Given the description of an element on the screen output the (x, y) to click on. 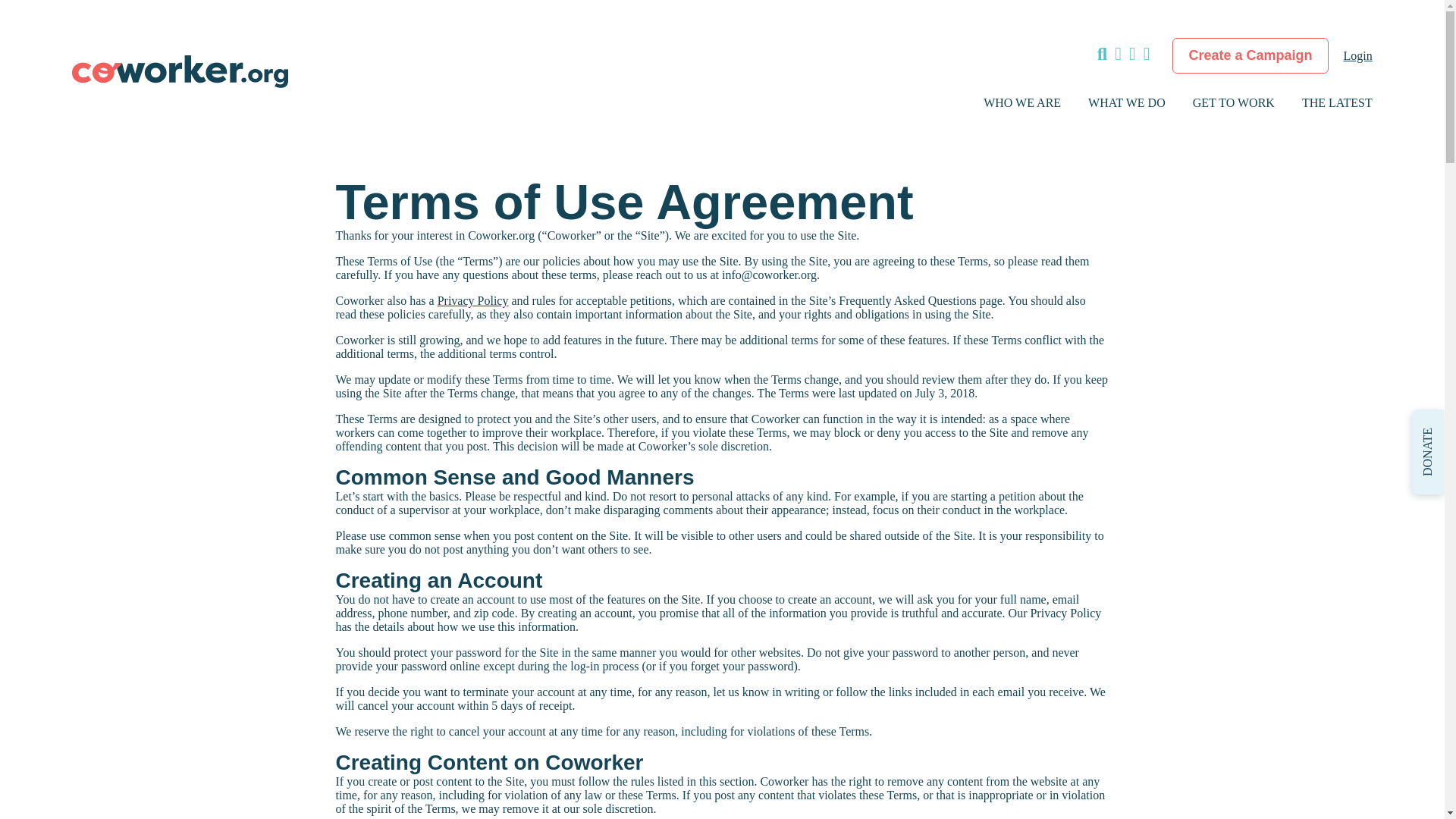
Create a Campaign (1249, 66)
GET TO WORK (1233, 102)
Login (1358, 56)
WHAT WE DO (1126, 102)
WHO WE ARE (1022, 102)
Search (1053, 56)
Create a Campaign (1249, 55)
THE LATEST (1337, 102)
